Given the description of an element on the screen output the (x, y) to click on. 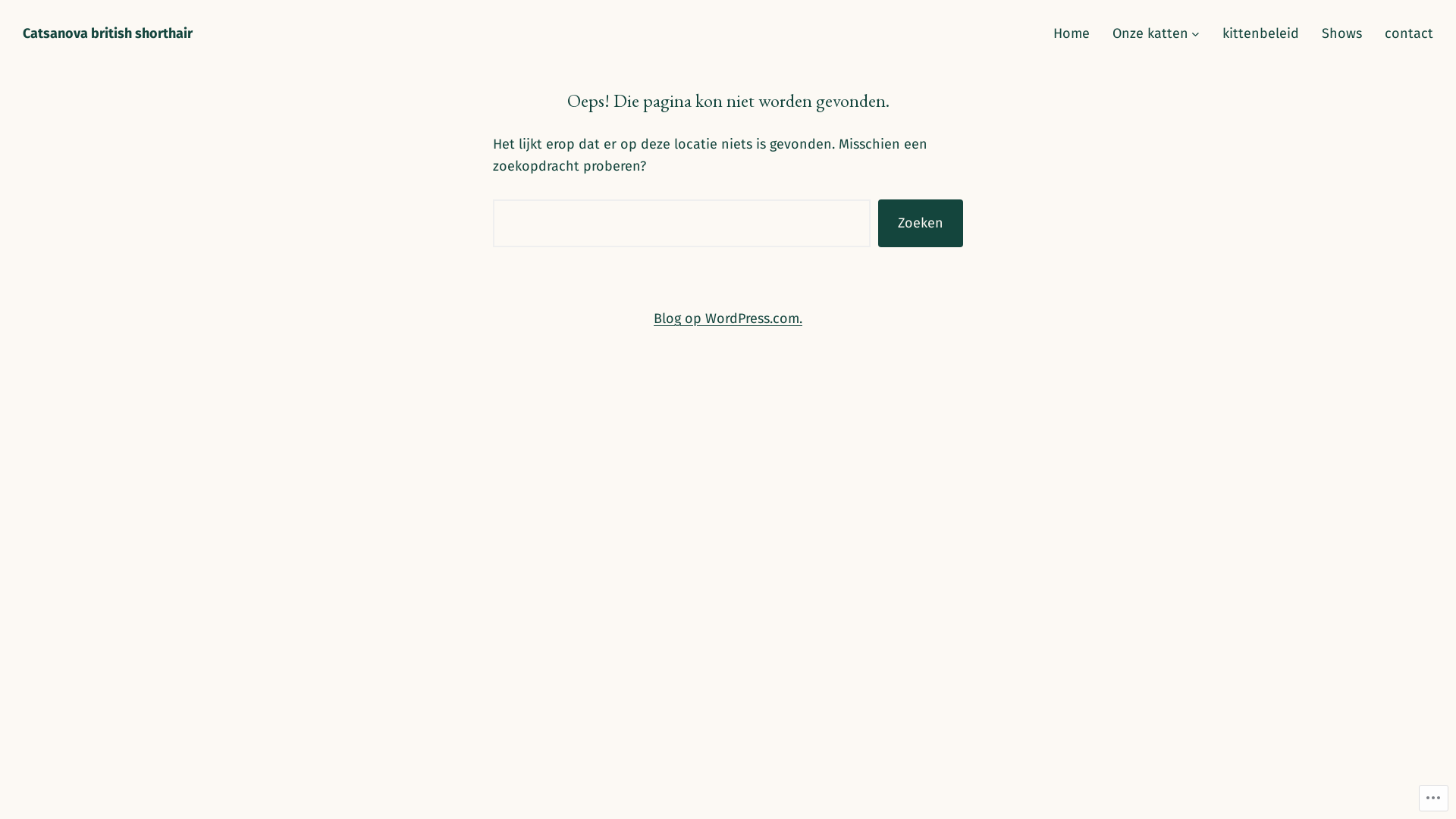
Onze katten Element type: text (1150, 33)
Home Element type: text (1071, 33)
Catsanova british shorthair Element type: text (107, 33)
kittenbeleid Element type: text (1260, 33)
Zoeken Element type: text (920, 223)
Blog op WordPress.com. Element type: text (727, 318)
Shows Element type: text (1341, 33)
contact Element type: text (1408, 33)
